Given the description of an element on the screen output the (x, y) to click on. 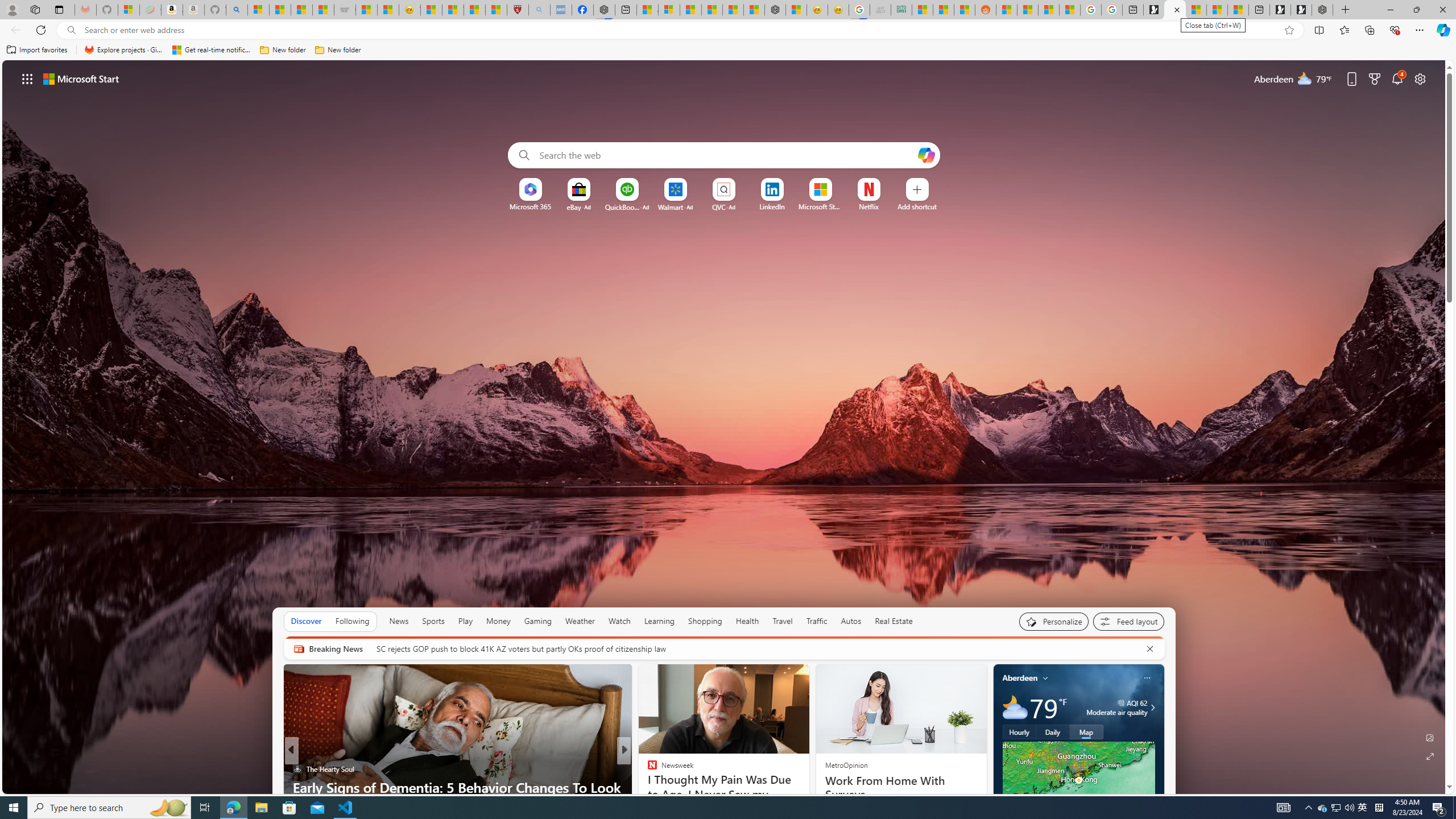
Body Network (647, 768)
Work From Home With Surveys (900, 786)
Class: icon-img (1146, 677)
aqi-icon AQI 62 Moderate air quality (1116, 707)
